Given the description of an element on the screen output the (x, y) to click on. 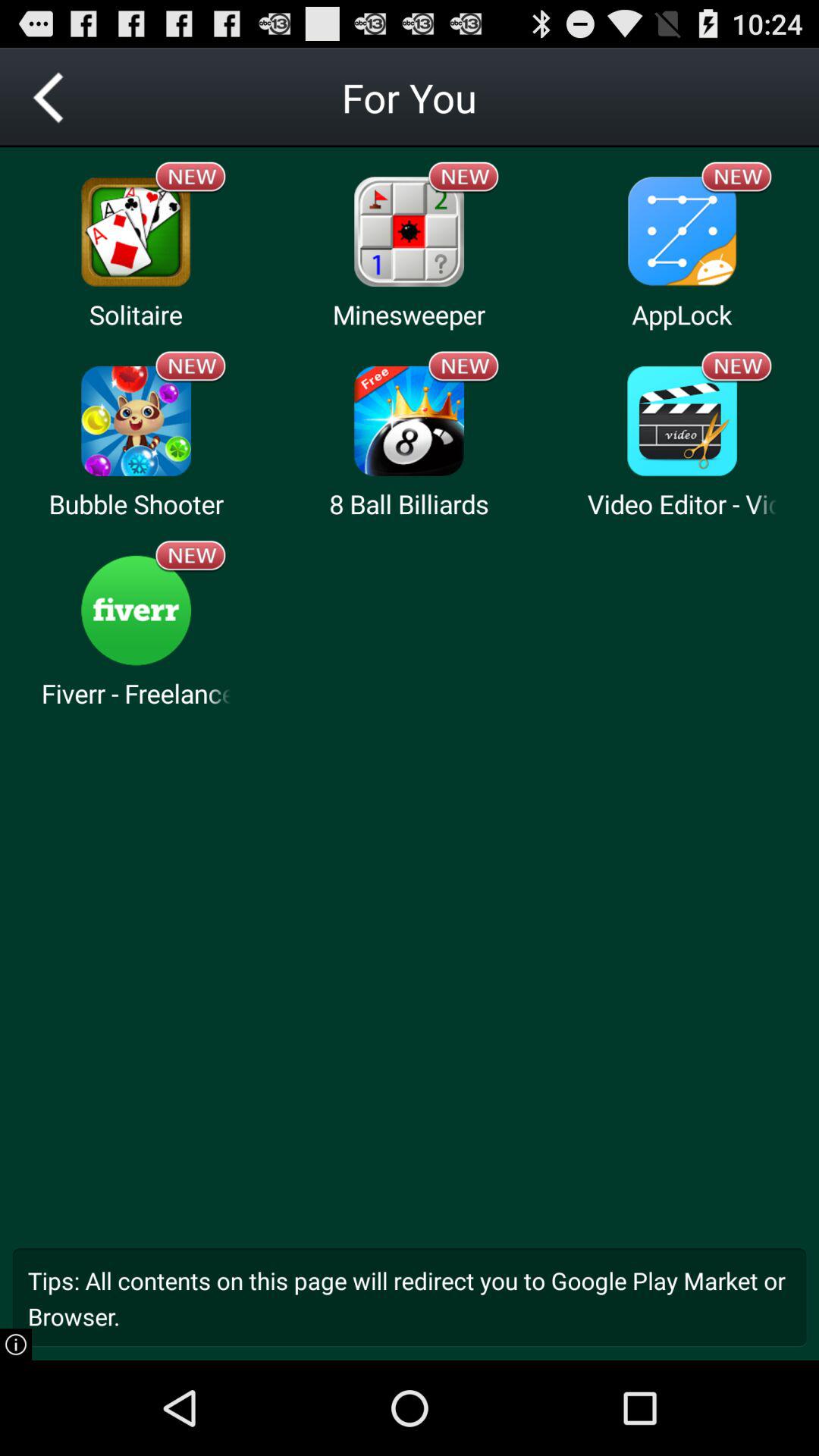
launch icon below bubble shooter item (190, 556)
